Given the description of an element on the screen output the (x, y) to click on. 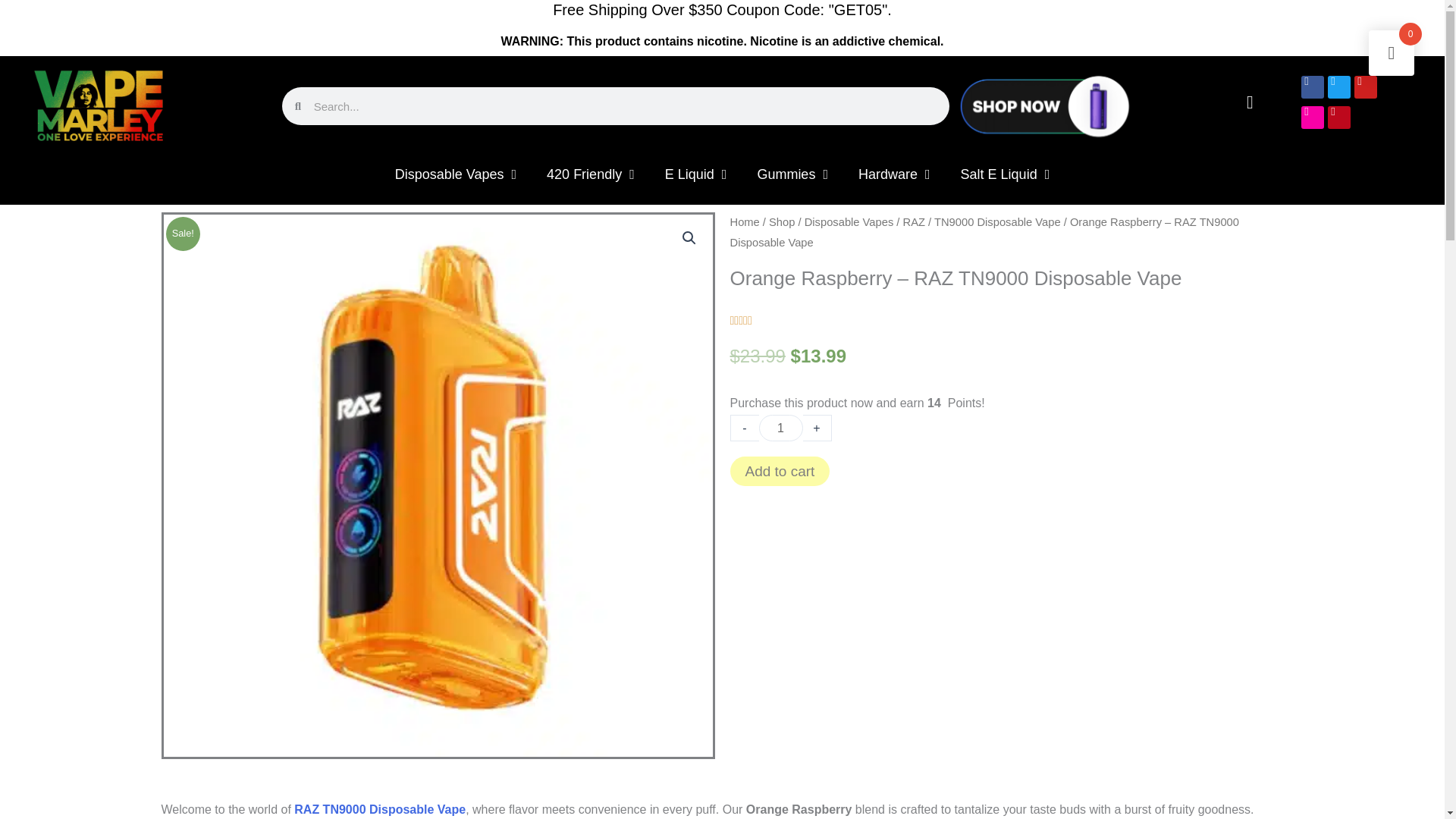
1 (780, 427)
